Given the description of an element on the screen output the (x, y) to click on. 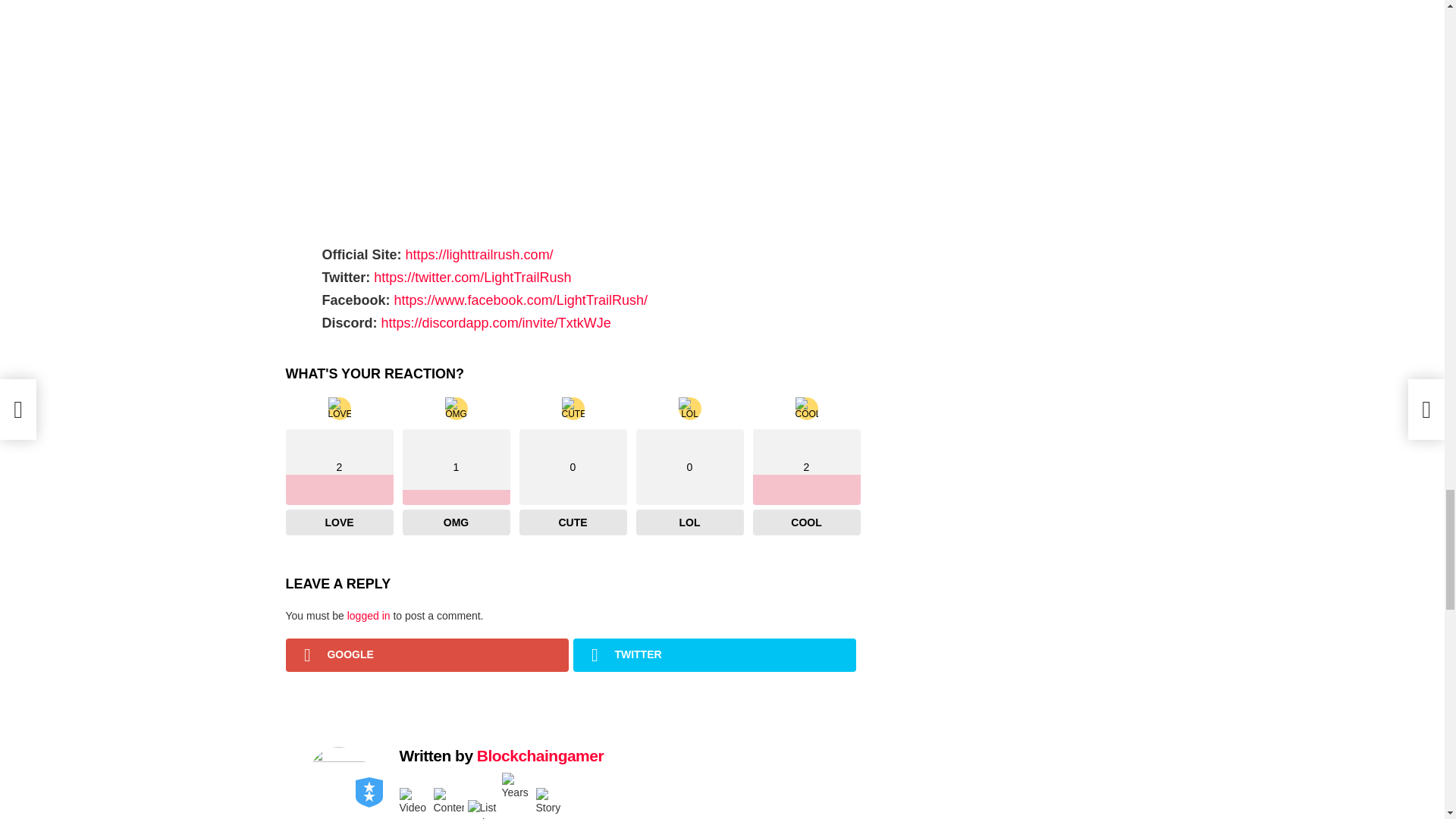
Connect with Google (426, 654)
Connect with Twitter (714, 654)
Content Author (448, 802)
List Maker (482, 809)
Years Of Membership (517, 788)
Video Maker (413, 802)
Story Maker (550, 802)
